Given the description of an element on the screen output the (x, y) to click on. 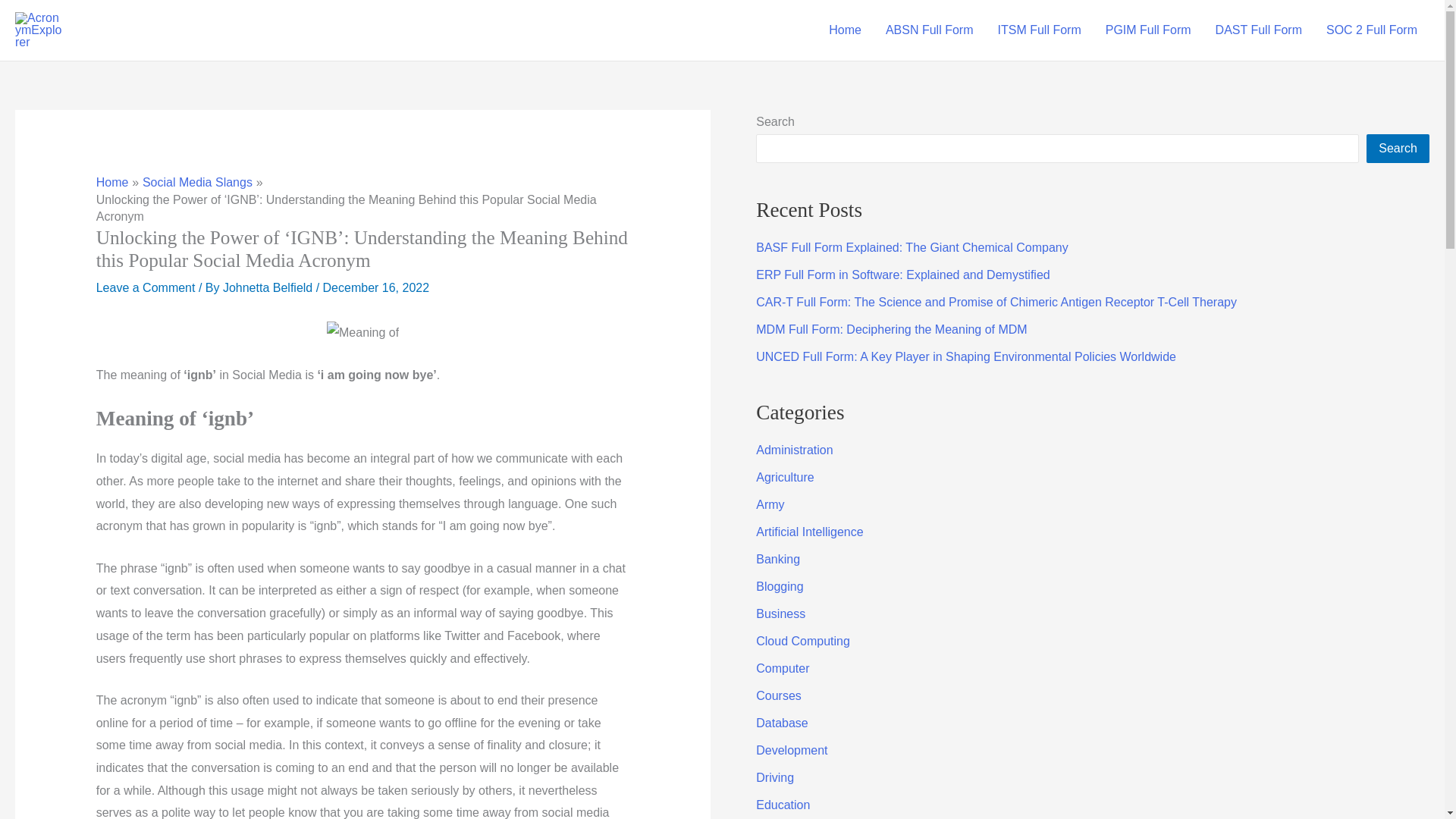
ABSN Full Form (929, 30)
Home (844, 30)
Home (112, 182)
View all posts by Johnetta Belfield (268, 287)
ITSM Full Form (1039, 30)
Johnetta Belfield (268, 287)
MDM Full Form: Deciphering the Meaning of MDM (890, 328)
Social Media Slangs (196, 182)
SOC 2 Full Form (1371, 30)
